Given the description of an element on the screen output the (x, y) to click on. 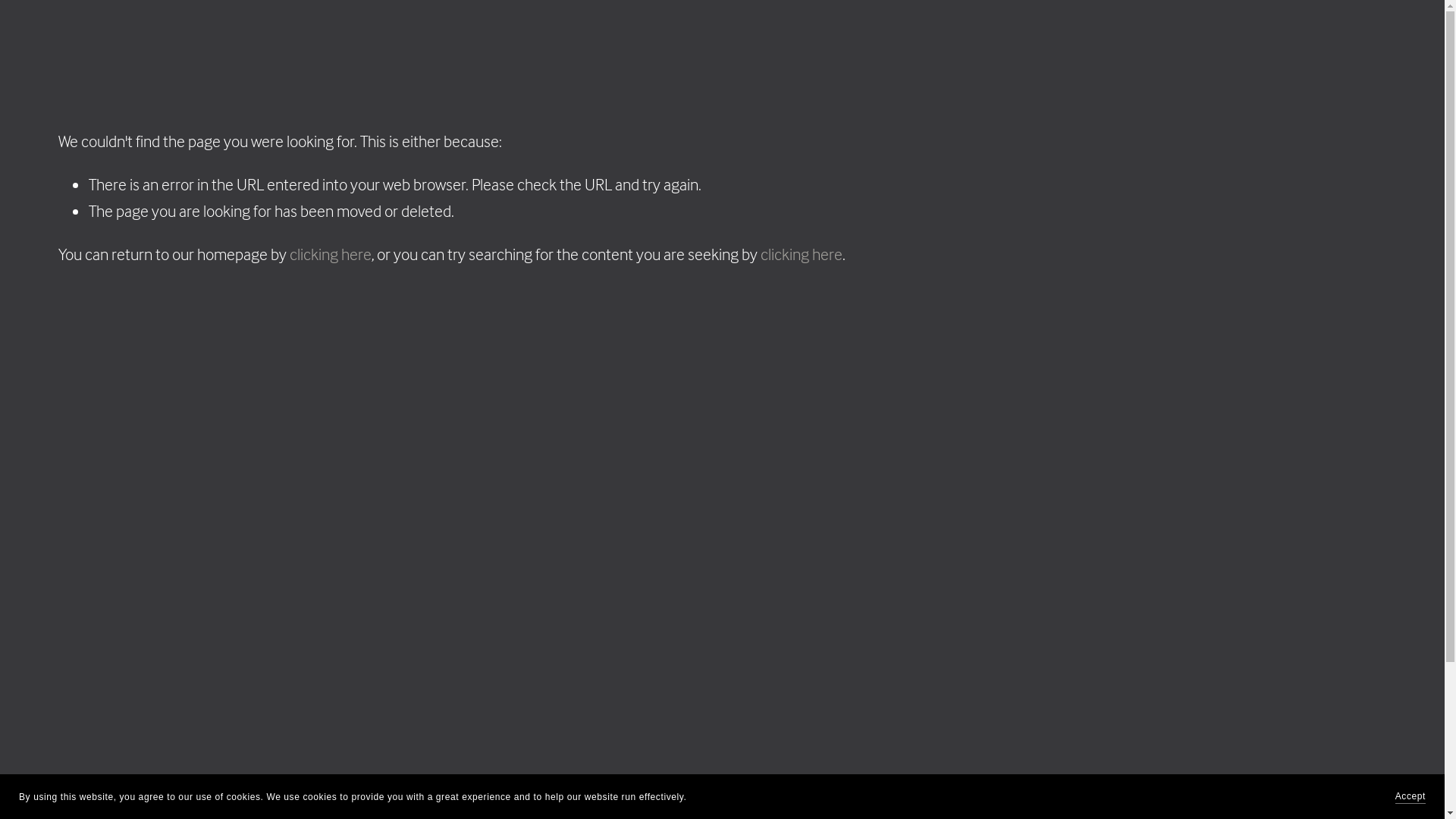
clicking here Element type: text (801, 253)
Accept Element type: text (1410, 796)
clicking here Element type: text (330, 253)
